Given the description of an element on the screen output the (x, y) to click on. 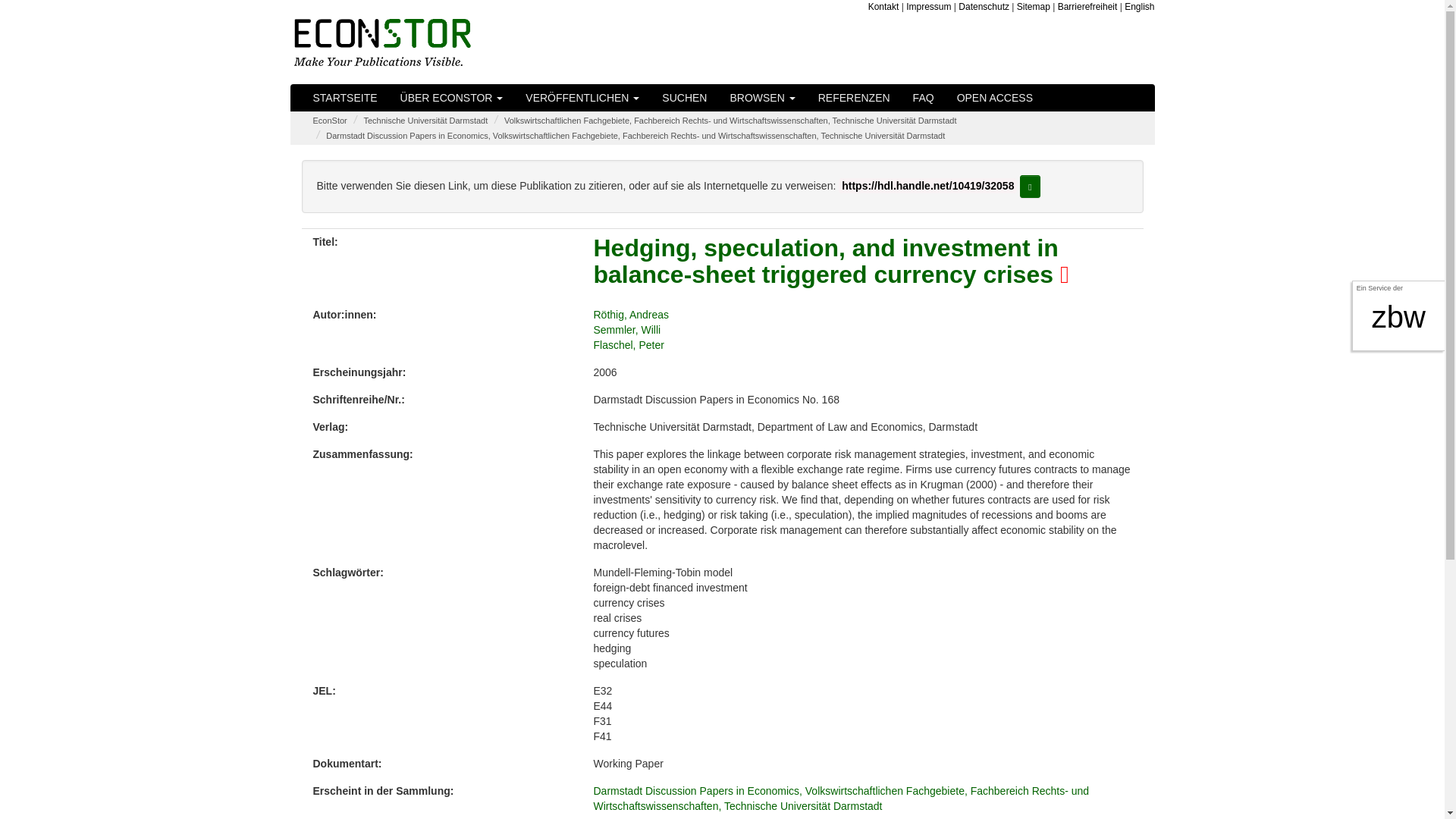
EconStor (329, 120)
REFERENZEN (853, 97)
STARTSEITE (344, 97)
BROWSEN (761, 97)
OPEN ACCESS (993, 97)
SUCHEN (683, 97)
Datenschutz (983, 6)
Barrierefreiheit (1088, 6)
zbw (1398, 316)
Kontakt (883, 6)
